Given the description of an element on the screen output the (x, y) to click on. 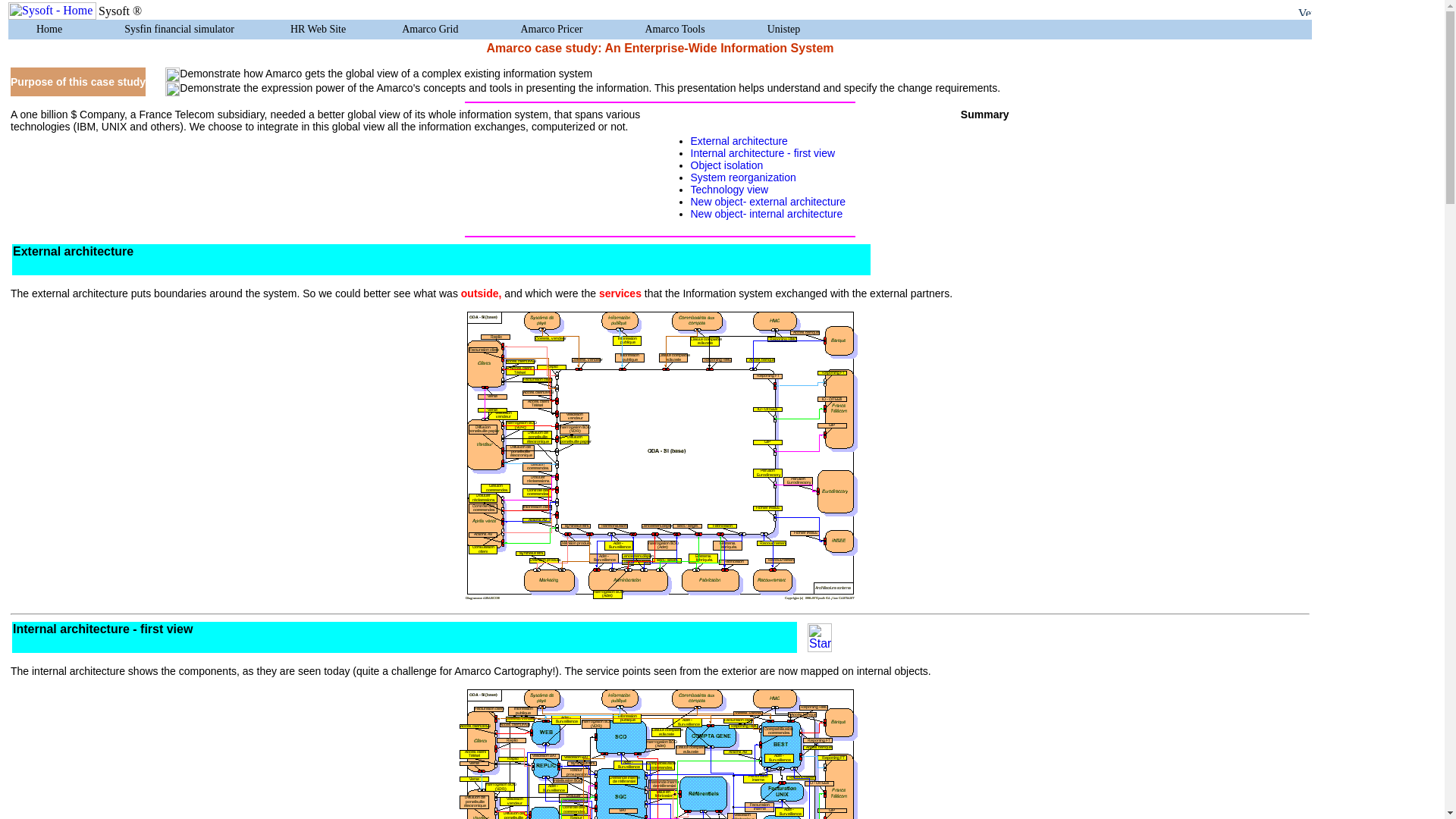
External architecture (73, 250)
Technology view (729, 189)
Amarco Tools (677, 29)
Amarco Grid (432, 29)
Object isolation (726, 164)
External architecture (738, 141)
System reorganization (742, 177)
New object- external architecture (767, 201)
Internal architecture - first view (762, 152)
Internal architecture - first view (102, 628)
